Given the description of an element on the screen output the (x, y) to click on. 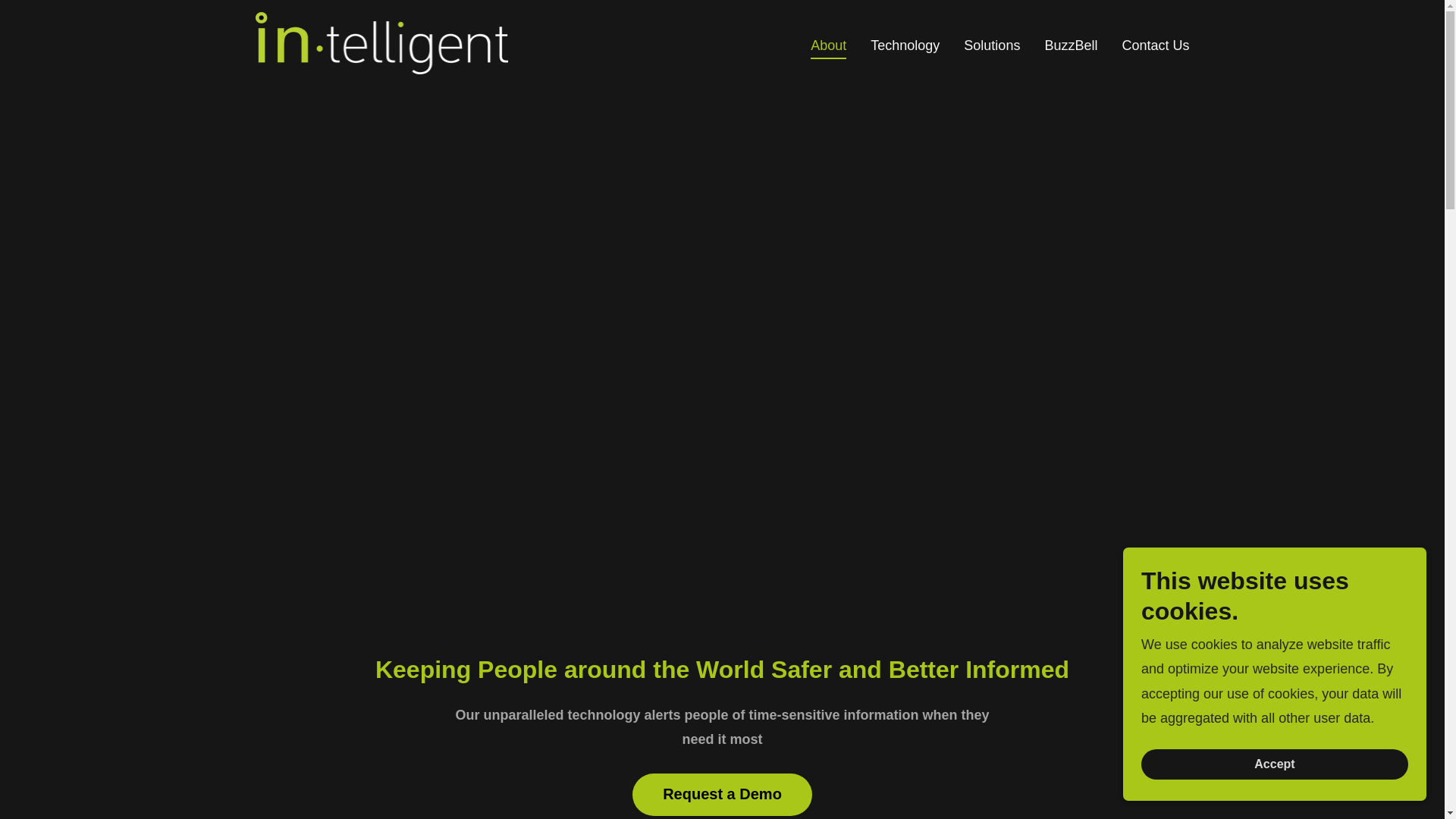
Technology (904, 44)
Solutions (992, 44)
Request a Demo (721, 794)
About (827, 47)
Contact Us (1154, 44)
Accept (1274, 764)
BuzzBell (1070, 44)
In-telligent (381, 42)
